Given the description of an element on the screen output the (x, y) to click on. 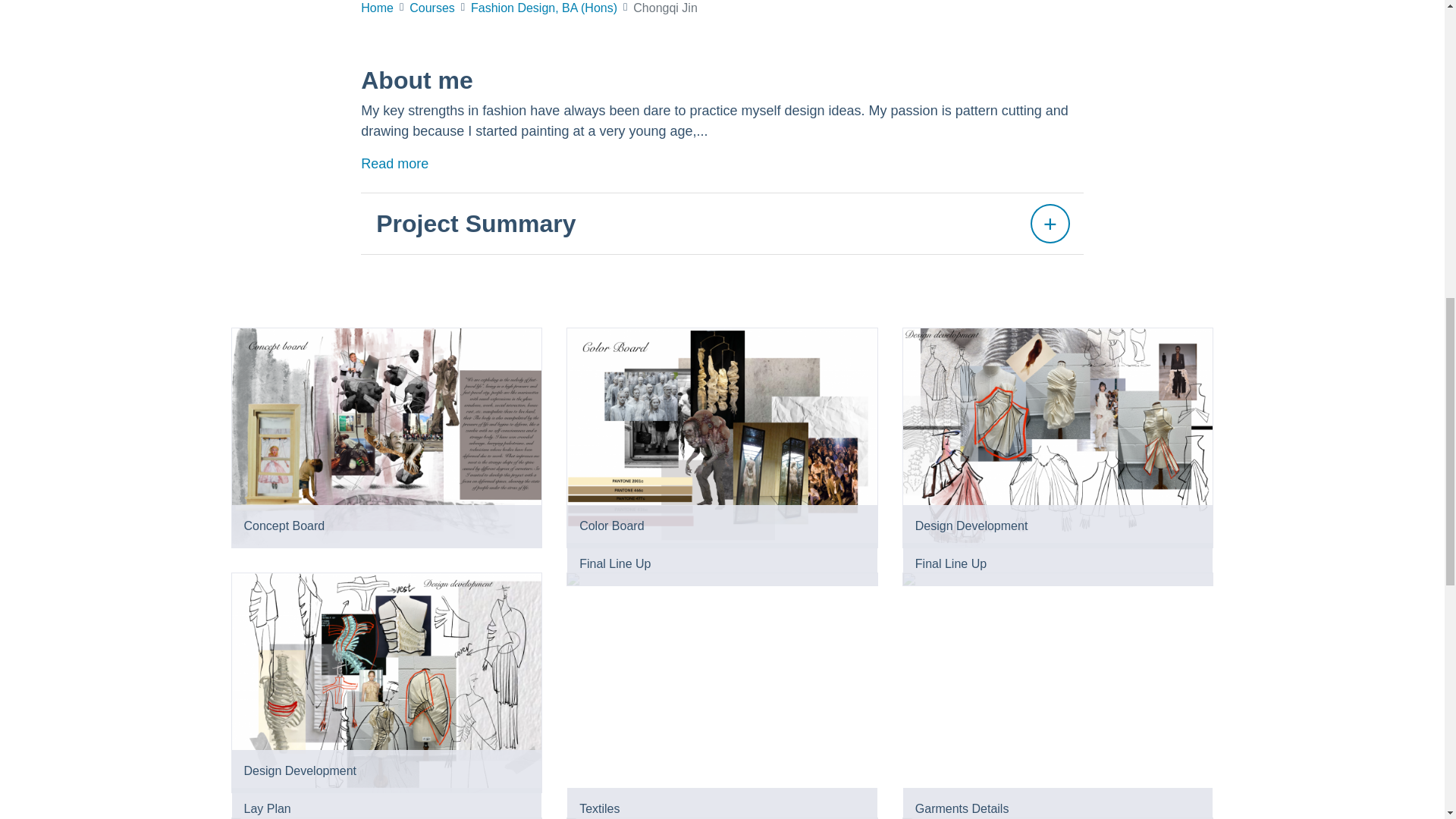
Read more (394, 163)
Courses (431, 7)
Home (377, 7)
Project Summary (722, 223)
